Given the description of an element on the screen output the (x, y) to click on. 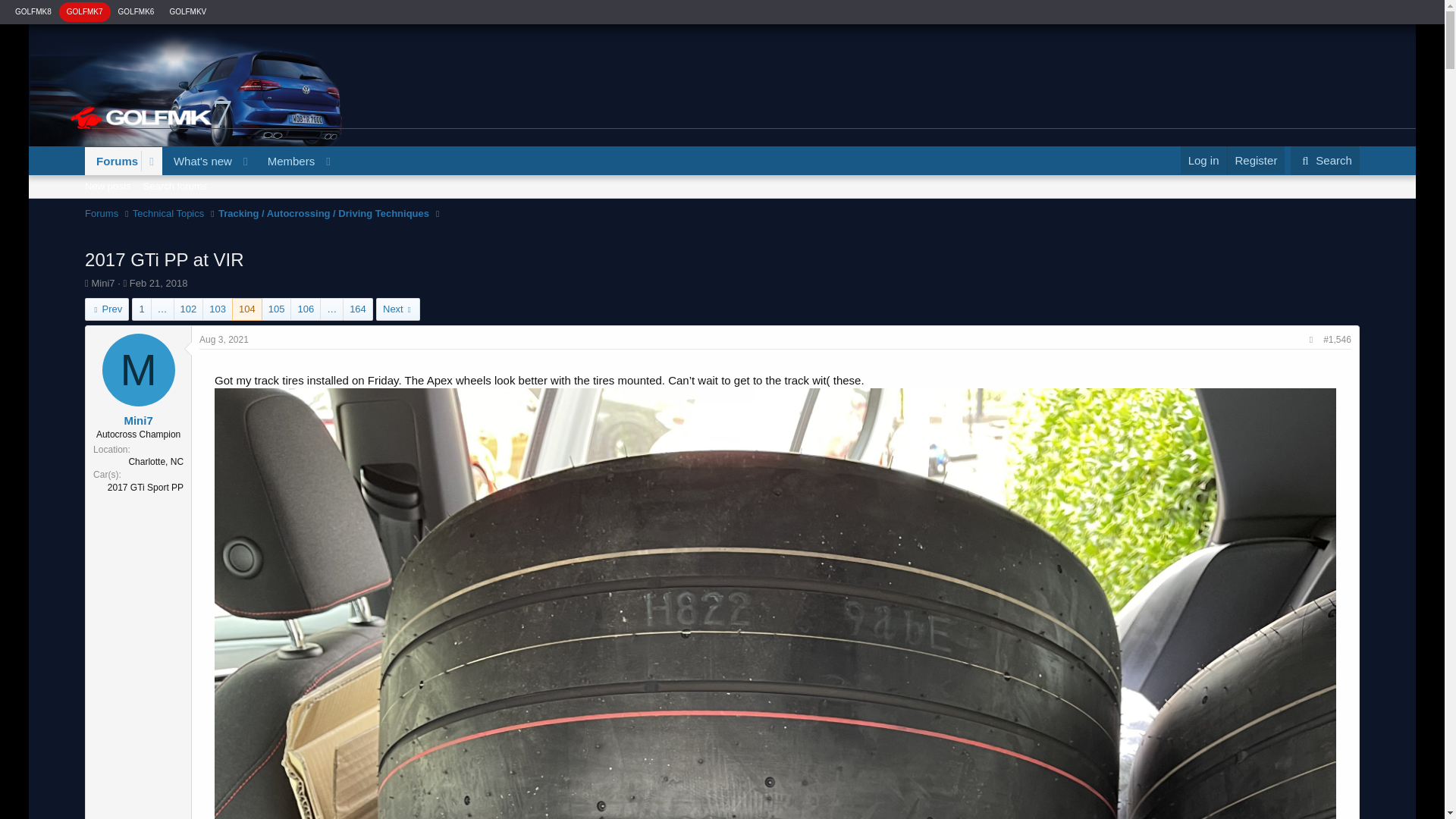
Search forums (175, 185)
Forums (112, 161)
Feb 21, 2018 at 7:34 PM (158, 283)
Feb 21, 2018 (158, 283)
What's new (211, 161)
Aug 3, 2021 at 6:27 PM (197, 161)
Members (223, 339)
Mini7 (286, 161)
